Given the description of an element on the screen output the (x, y) to click on. 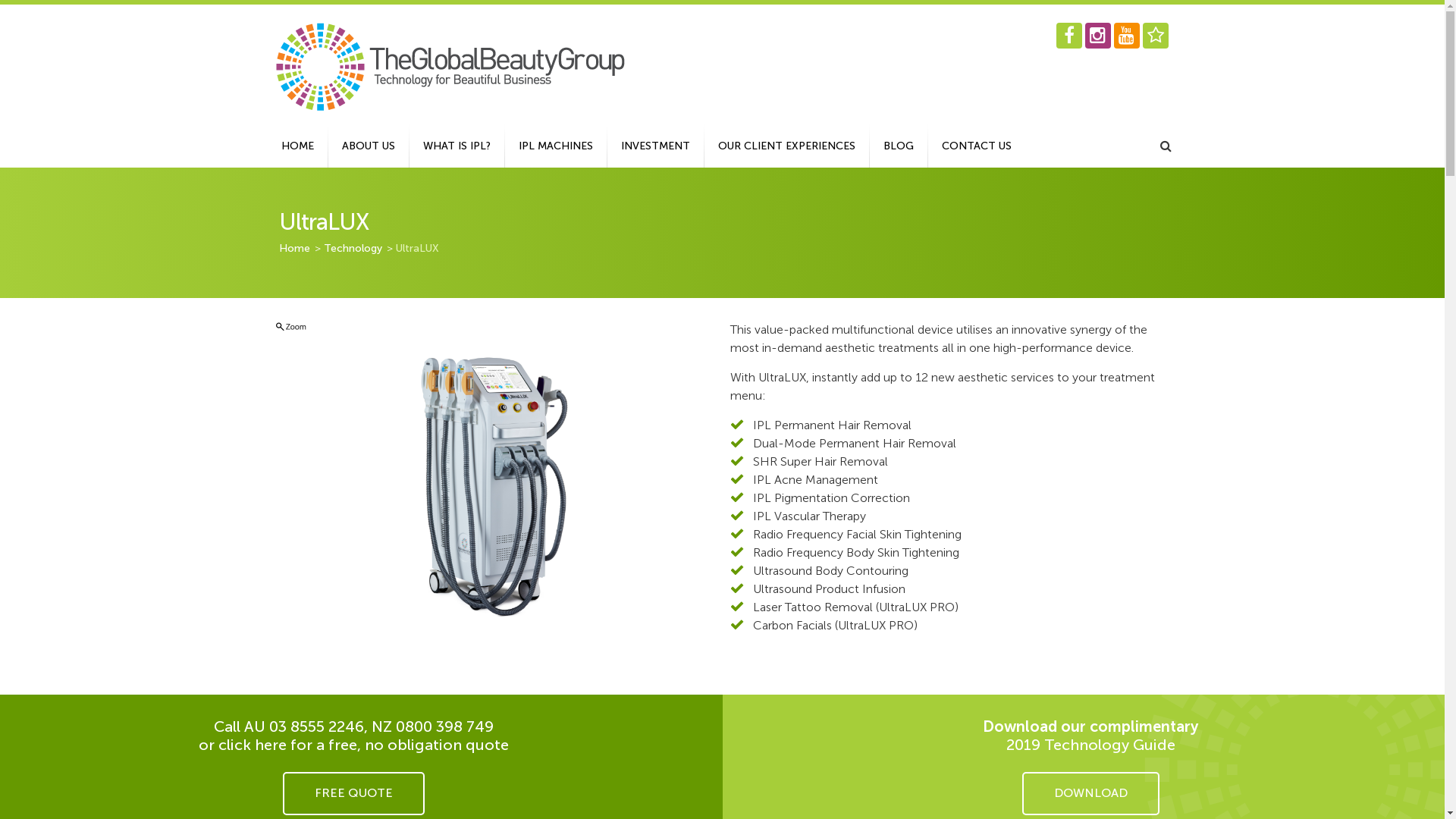
OUR CLIENT EXPERIENCES Element type: text (785, 145)
Technology Element type: text (352, 247)
ABOUT US Element type: text (367, 145)
HOME Element type: text (296, 145)
BLOG Element type: text (897, 145)
CONTACT US Element type: text (976, 145)
Home Element type: text (295, 247)
Facebook Element type: hover (1068, 35)
YouTube Element type: hover (1126, 35)
DOWNLOAD Element type: text (1090, 793)
INVESTMENT Element type: text (654, 145)
IPL MACHINES Element type: text (555, 145)
WHAT IS IPL? Element type: text (456, 145)
FREE QUOTE Element type: text (353, 793)
Instagram Element type: hover (1097, 35)
